Given the description of an element on the screen output the (x, y) to click on. 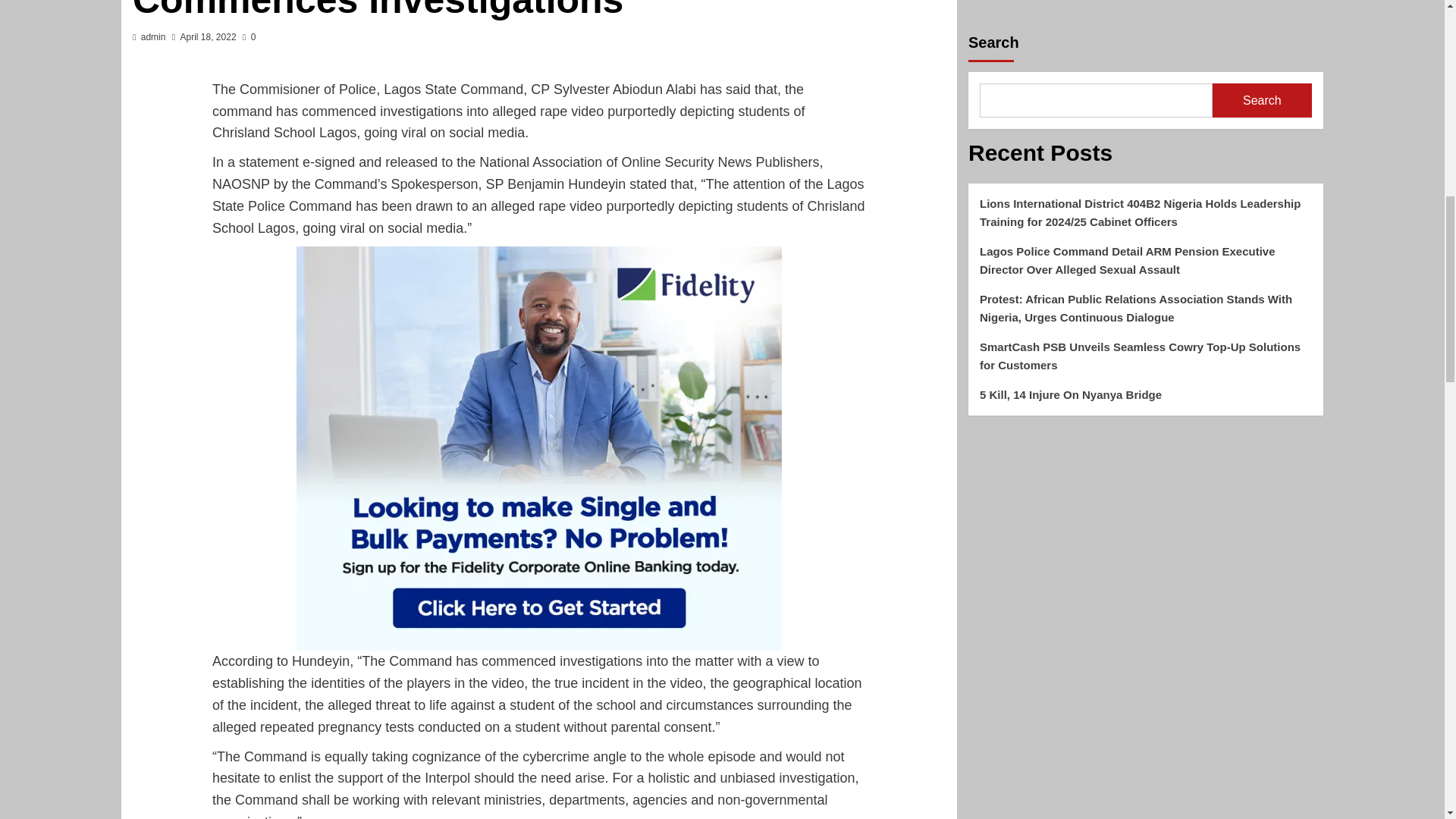
April 18, 2022 (207, 36)
0 (249, 36)
admin (153, 36)
